Given the description of an element on the screen output the (x, y) to click on. 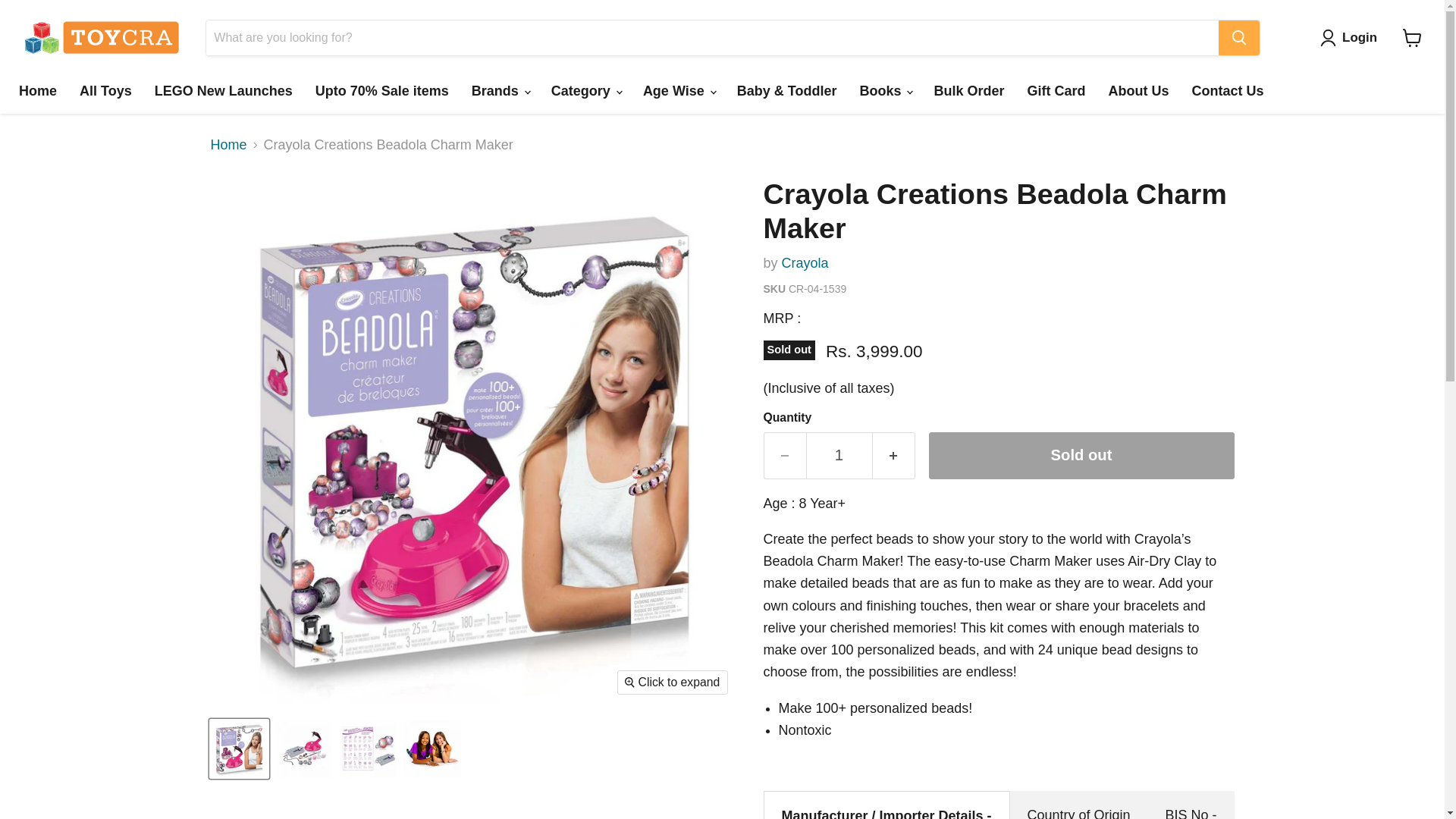
View cart (1411, 37)
Login (1352, 37)
Home (37, 90)
All Toys (105, 90)
LEGO New Launches (223, 90)
1 (838, 455)
Crayola (804, 263)
